Given the description of an element on the screen output the (x, y) to click on. 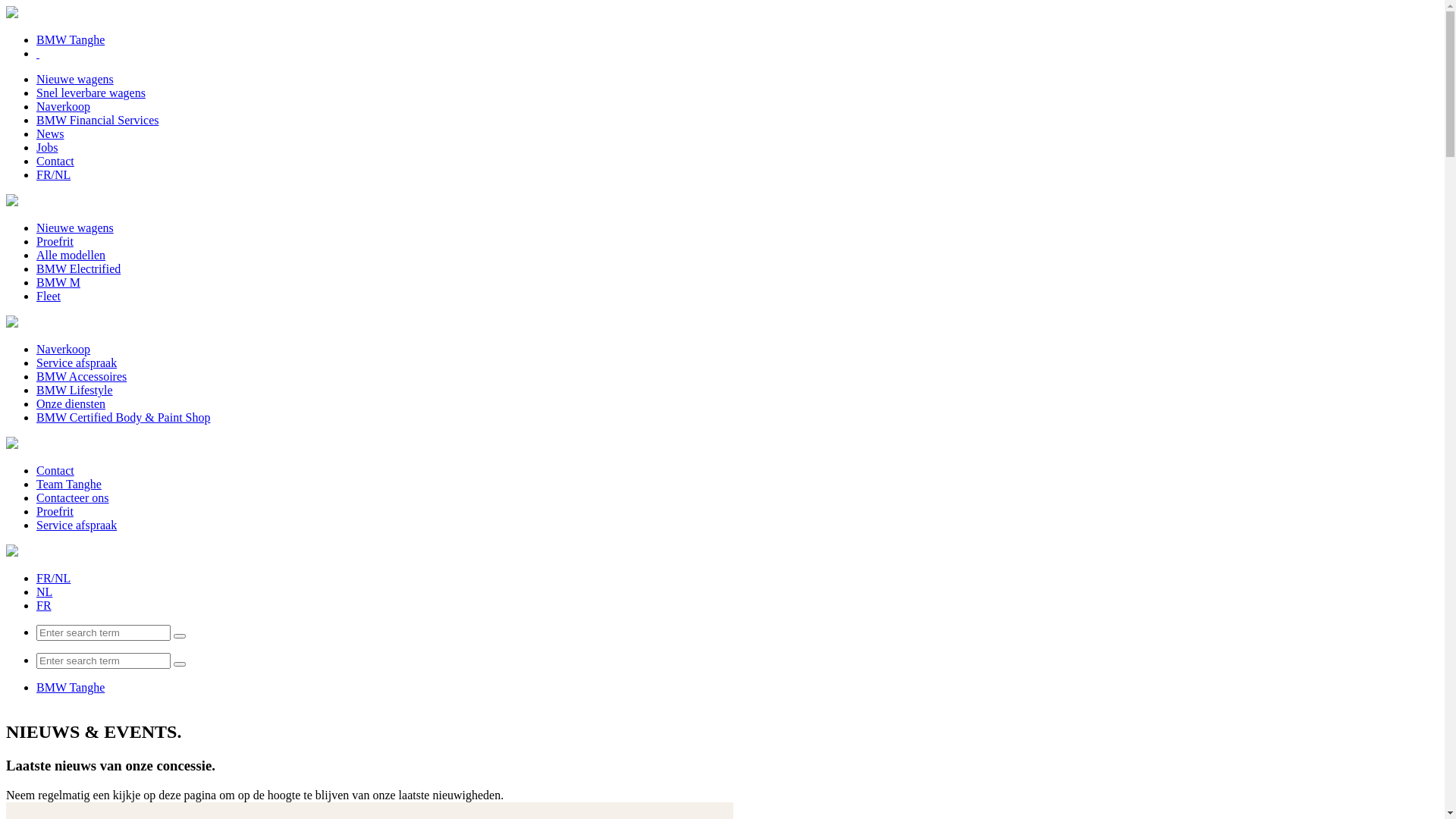
FR Element type: text (43, 605)
BMW Electrified Element type: text (78, 268)
Skip to main content Element type: text (6, 6)
Naverkoop Element type: text (63, 106)
Contacteer ons Element type: text (72, 497)
Contact Element type: text (55, 160)
FR/NL Element type: text (53, 174)
Alle modellen Element type: text (70, 254)
FR/NL Element type: text (53, 577)
BMW Tanghe Element type: text (70, 39)
Proefrit Element type: text (54, 511)
Team Tanghe Element type: text (68, 483)
BMW Financial Services Element type: text (97, 119)
Naverkoop Element type: text (63, 348)
Jobs Element type: text (46, 147)
Service afspraak Element type: text (76, 524)
Snel leverbare wagens Element type: text (90, 92)
Onze diensten Element type: text (70, 403)
  Element type: text (37, 53)
Contact Element type: text (55, 470)
BMW Certified Body & Paint Shop Element type: text (123, 417)
BMW M Element type: text (58, 282)
Service afspraak Element type: text (76, 362)
Nieuwe wagens Element type: text (74, 227)
News Element type: text (49, 133)
Nieuwe wagens Element type: text (74, 78)
BMW Tanghe Element type: text (70, 686)
Home Element type: hover (12, 13)
BMW Lifestyle Element type: text (74, 389)
NL Element type: text (44, 591)
Fleet Element type: text (48, 295)
Proefrit Element type: text (54, 241)
BMW Accessoires Element type: text (81, 376)
